Given the description of an element on the screen output the (x, y) to click on. 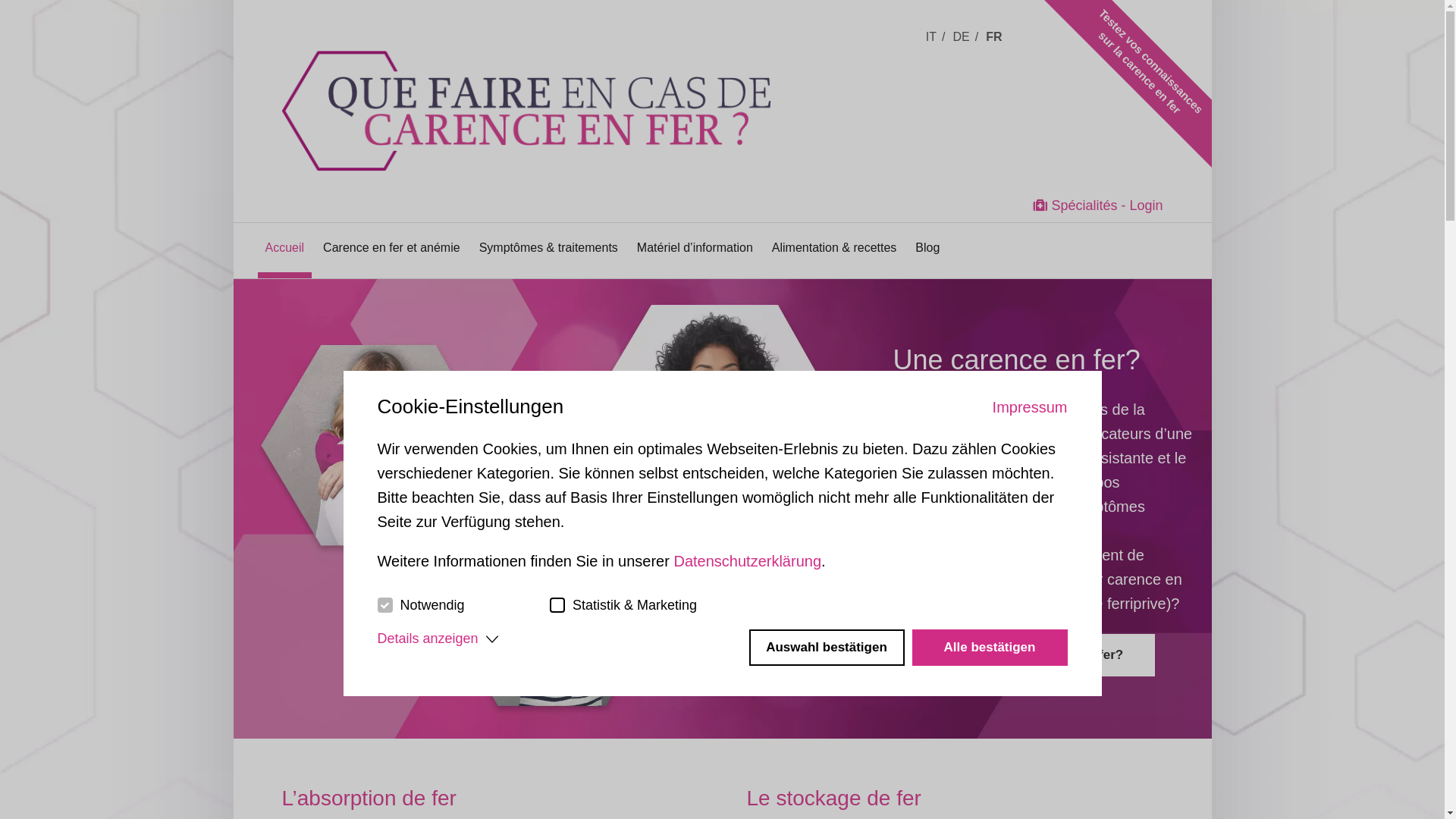
Blog Element type: text (927, 247)
Accueil Element type: text (284, 247)
DE Element type: text (965, 36)
FR Element type: text (996, 36)
Testez vos connaissances
sur la carence en fer Element type: text (1149, 23)
IT Element type: text (935, 36)
Zur Startseite Element type: hover (559, 85)
Alimentation & recettes Element type: text (834, 247)
Impressum Element type: text (1029, 406)
